Given the description of an element on the screen output the (x, y) to click on. 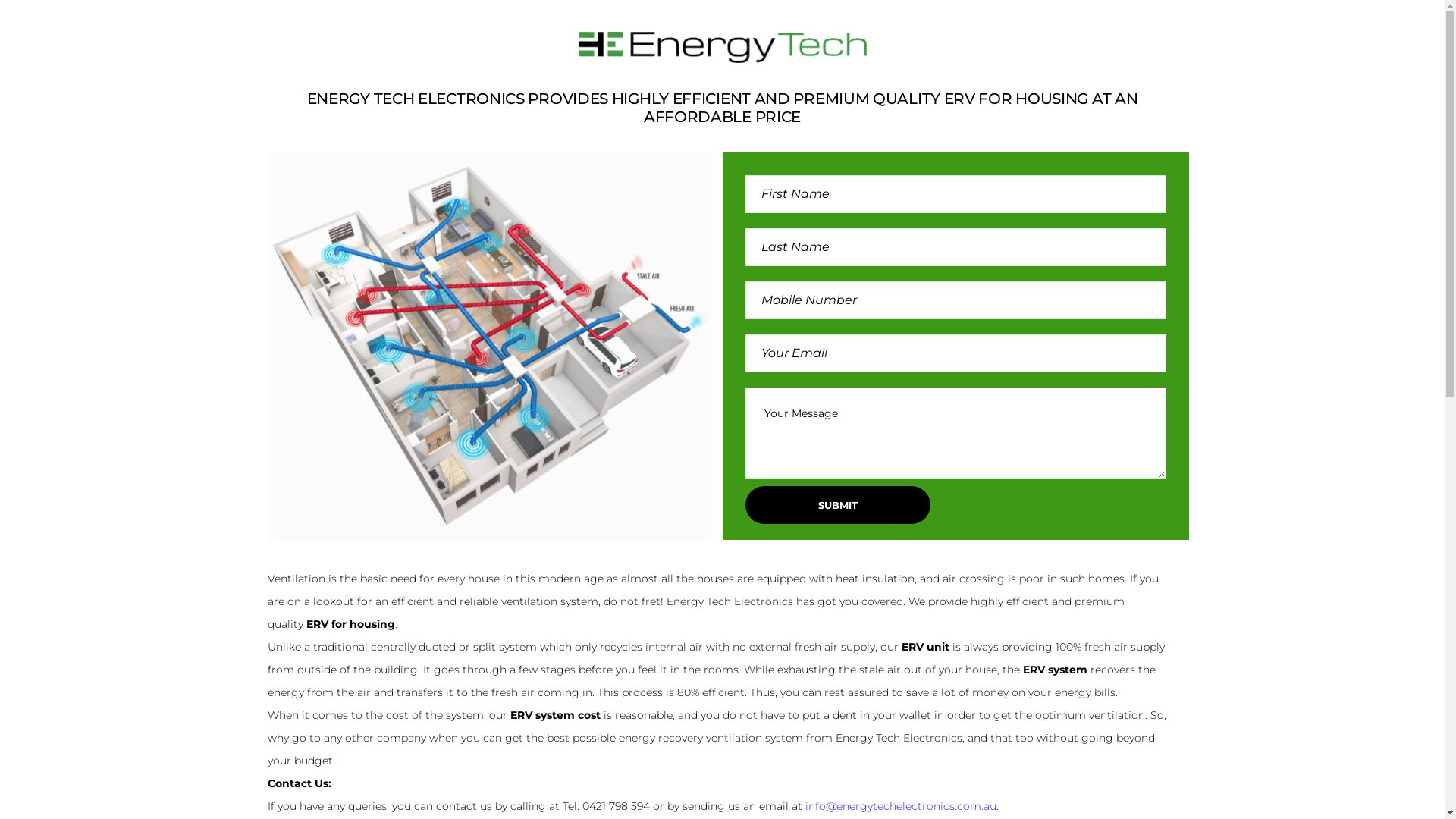
Submit Element type: text (836, 505)
info@energytechelectronics.com.au Element type: text (900, 805)
